Given the description of an element on the screen output the (x, y) to click on. 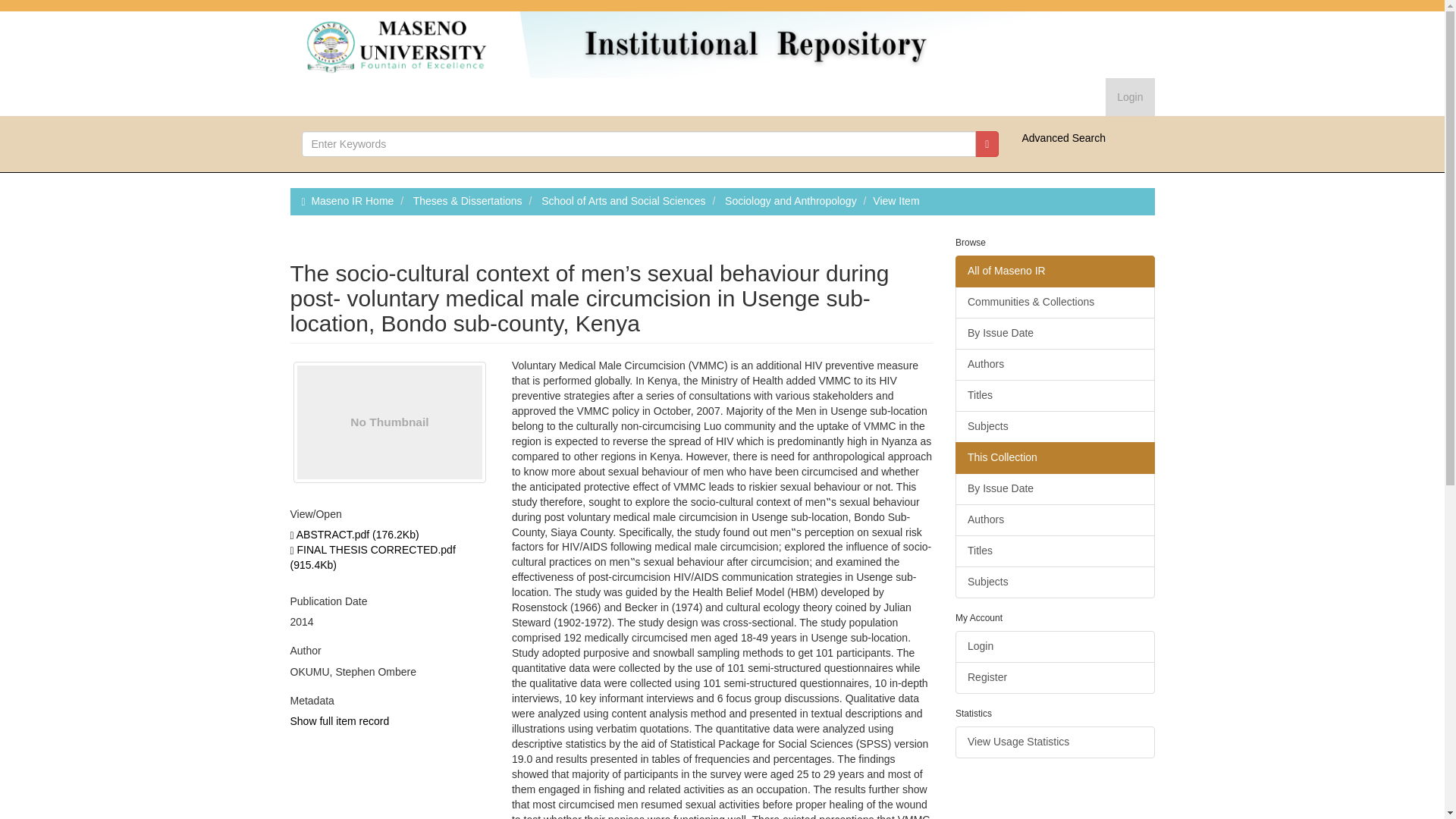
This Collection (1054, 458)
Sociology and Anthropology (791, 200)
Subjects (1054, 582)
Register (1054, 677)
Maseno IR Home (352, 200)
Titles (1054, 395)
Authors (1054, 364)
Titles (1054, 551)
School of Arts and Social Sciences (622, 200)
Advanced Search (1063, 137)
